Given the description of an element on the screen output the (x, y) to click on. 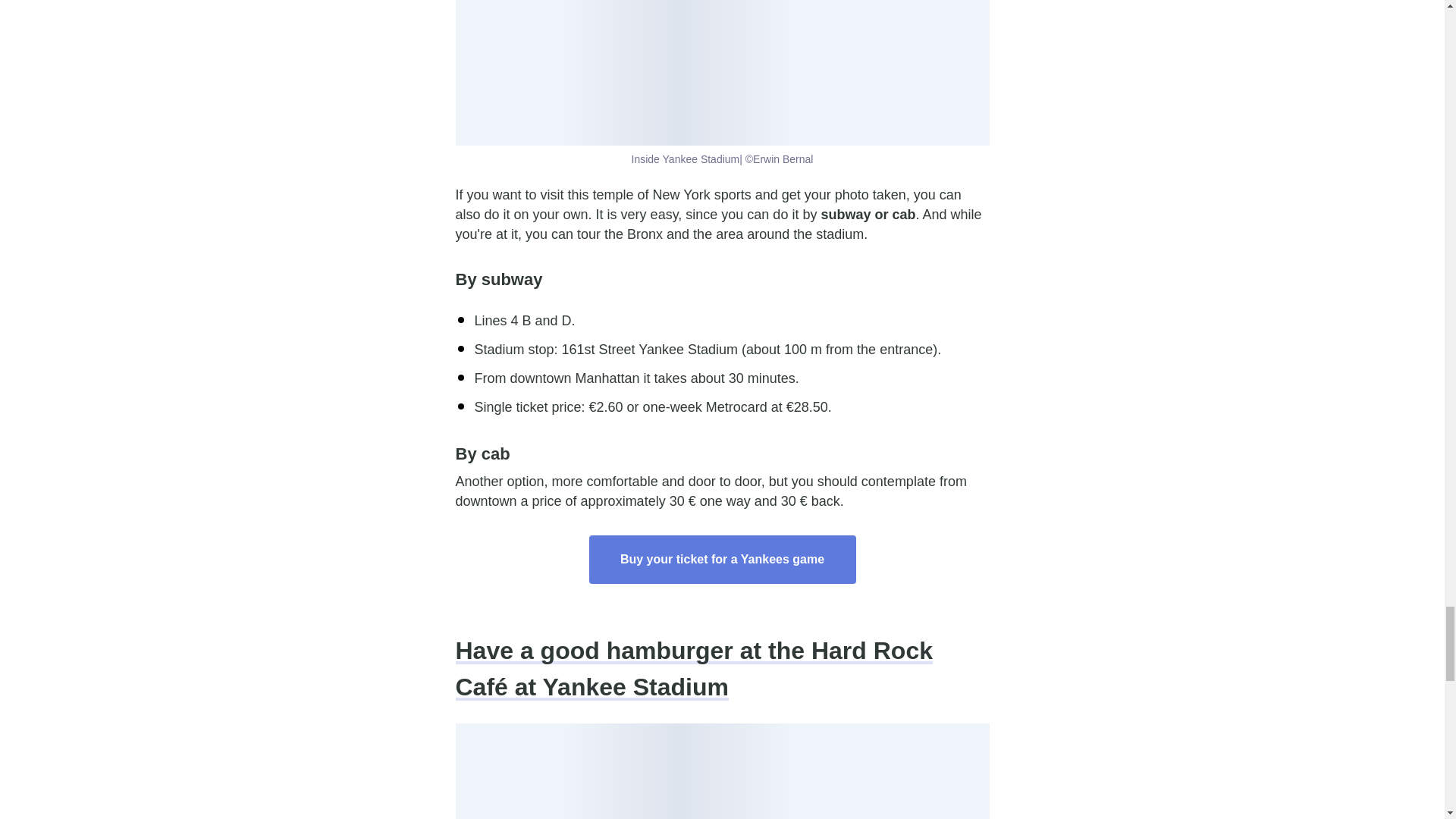
Buy your ticket for a Yankees game (722, 559)
